Given the description of an element on the screen output the (x, y) to click on. 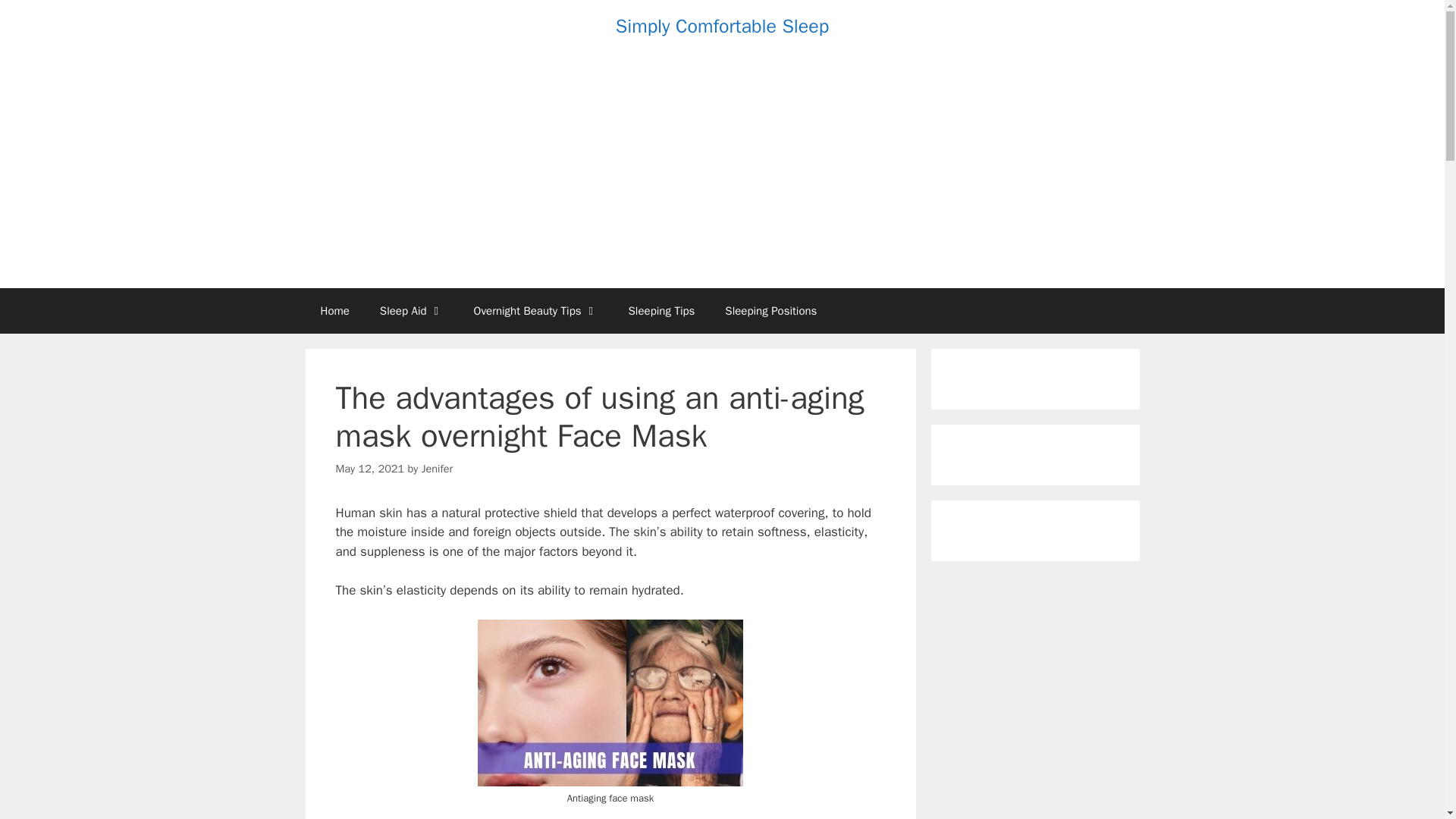
Sleep Aid (411, 310)
Sleeping Positions (770, 310)
Simply Comfortable Sleep (722, 25)
Overnight Beauty Tips (535, 310)
Home (334, 310)
Sleeping Tips (661, 310)
Jenifer (437, 468)
View all posts by Jenifer (437, 468)
